Given the description of an element on the screen output the (x, y) to click on. 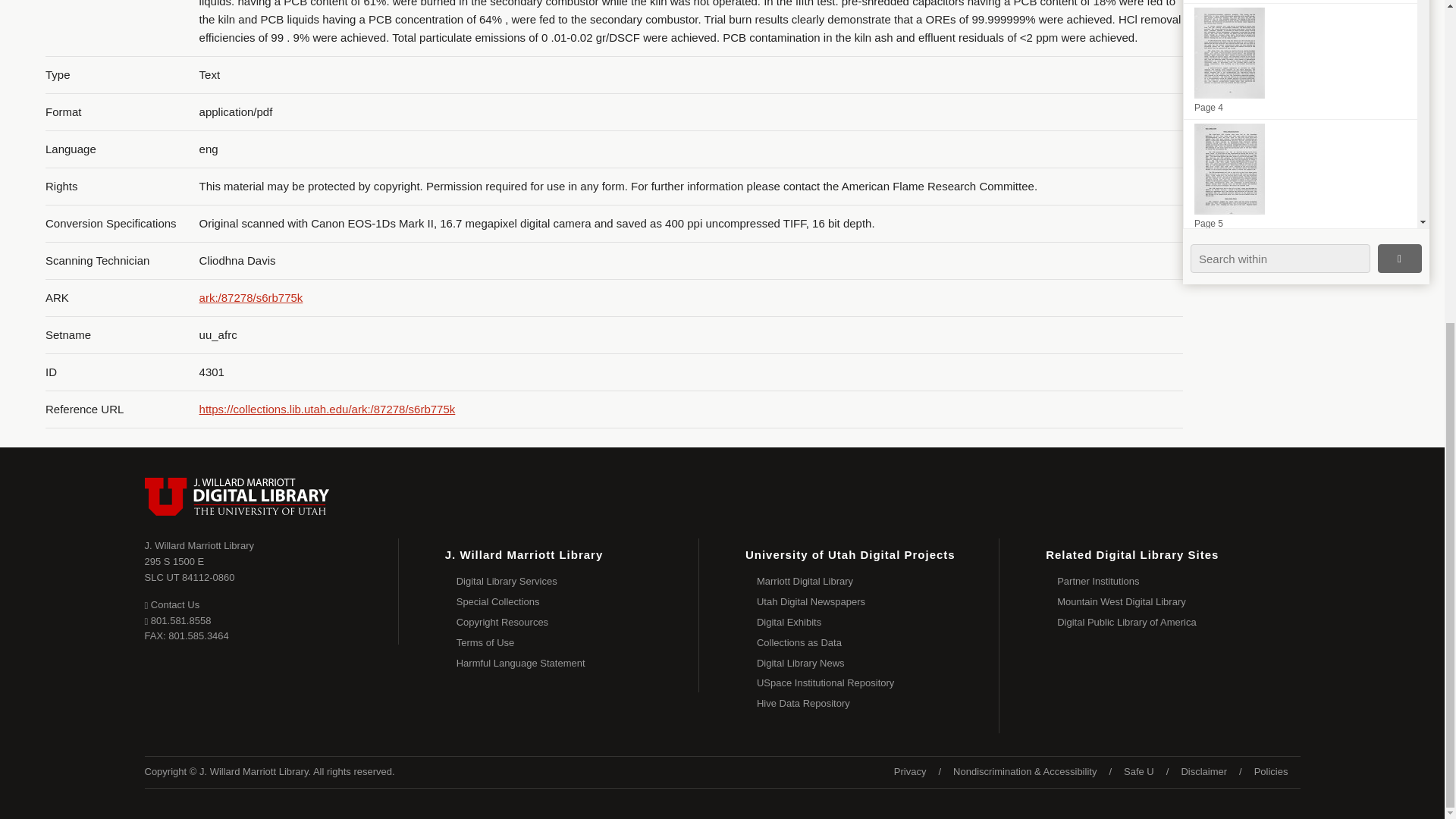
Page 9 (1299, 642)
J. Willard Marriott Library (198, 545)
Page 6 (1299, 293)
Page 5 (1299, 177)
Contact Us (171, 604)
Copyright Resources (577, 622)
Page 8 (1299, 525)
Digital Library Services (577, 581)
Page 3 (1299, 1)
Page 4 (189, 569)
Page 10 (1299, 61)
Page 7 (1299, 758)
Special Collections (1299, 409)
